Given the description of an element on the screen output the (x, y) to click on. 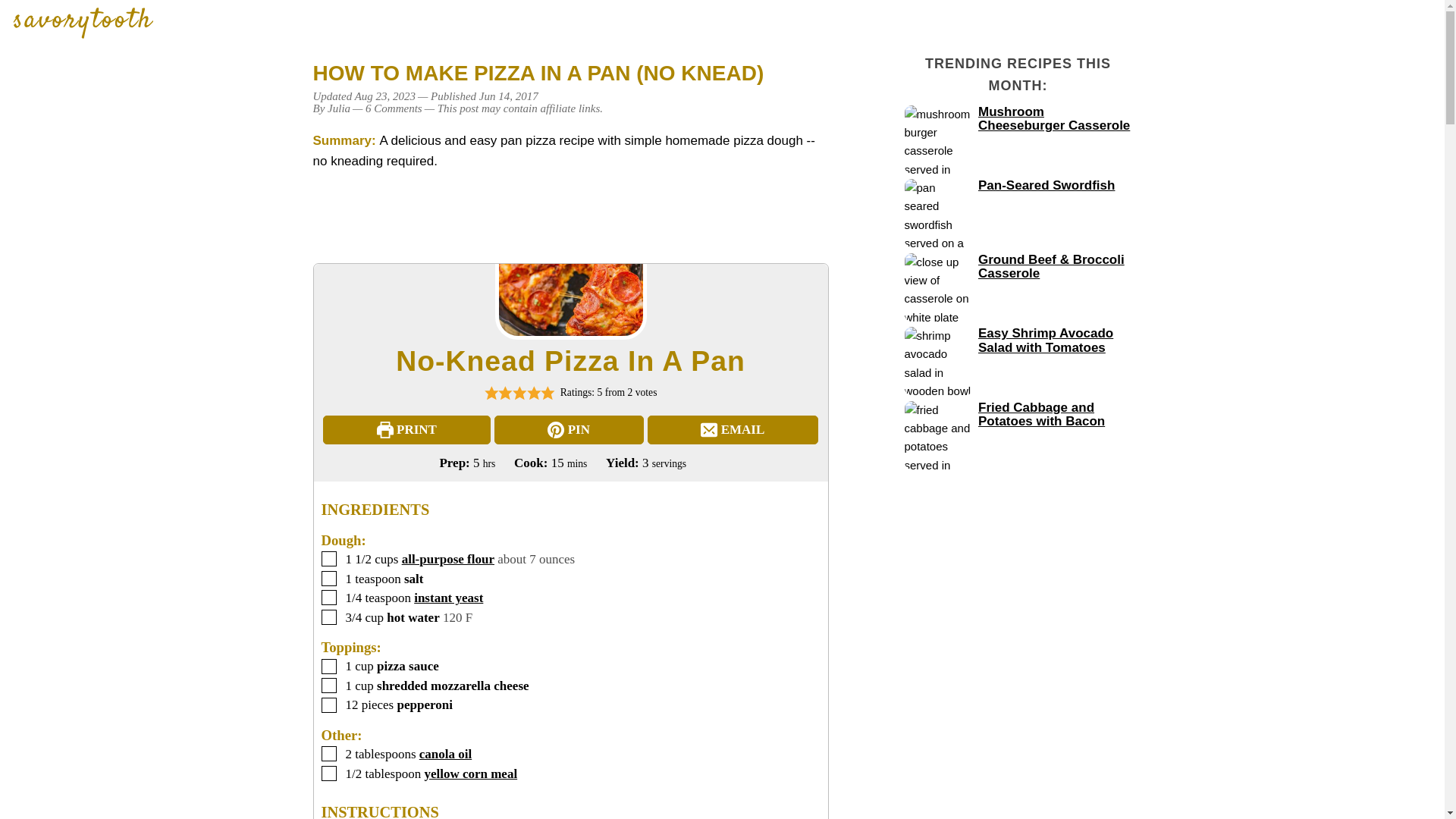
canola oil (445, 753)
EMAIL (732, 429)
instant yeast (448, 597)
5 from 2 votes (734, 396)
PRINT (406, 429)
6 Comments (393, 108)
all-purpose flour (448, 559)
savory tooth (82, 22)
PIN (569, 429)
affiliate links (569, 108)
yellow corn meal (469, 773)
Julia (338, 108)
